Given the description of an element on the screen output the (x, y) to click on. 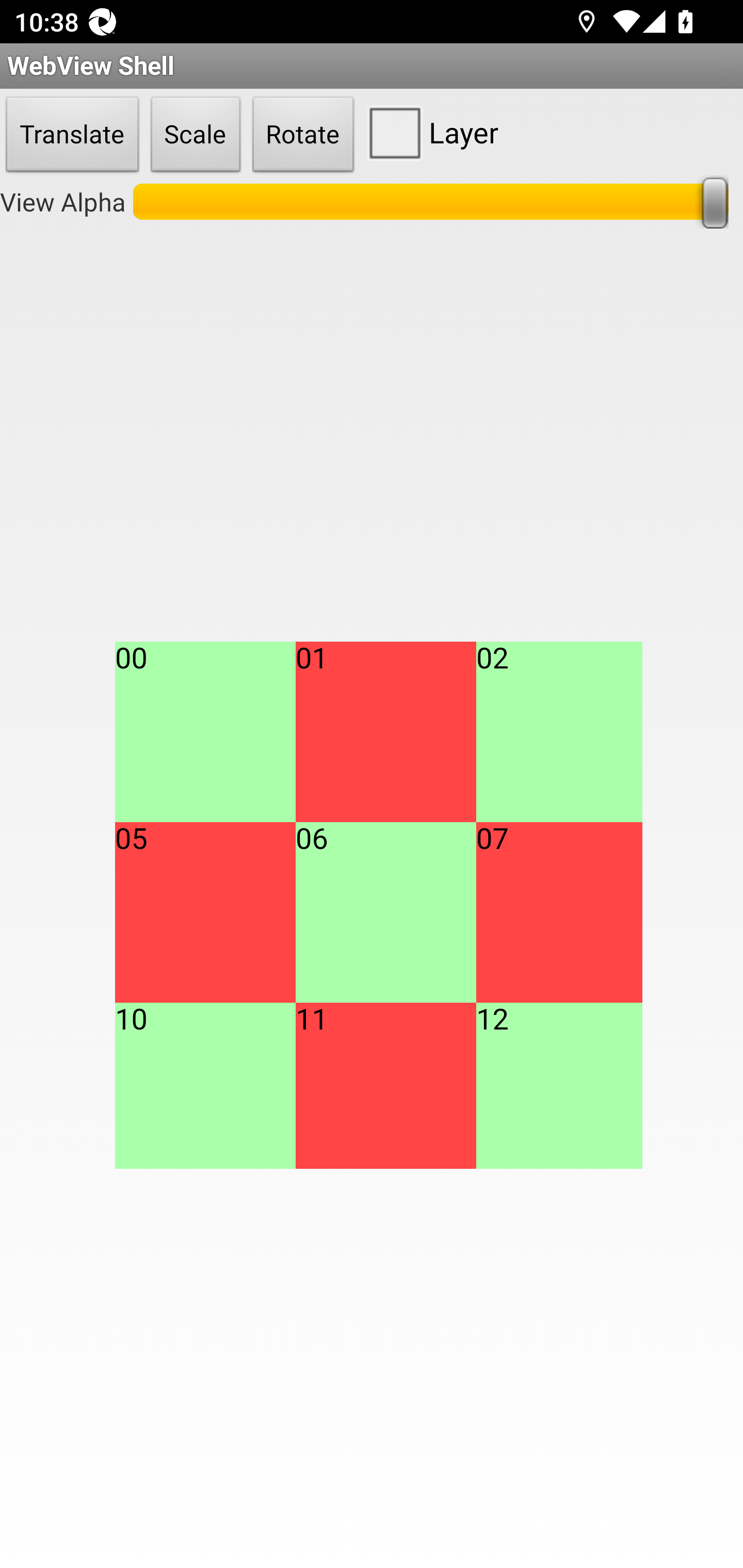
Layer (429, 132)
Translate (72, 135)
Scale (195, 135)
Rotate (303, 135)
